Given the description of an element on the screen output the (x, y) to click on. 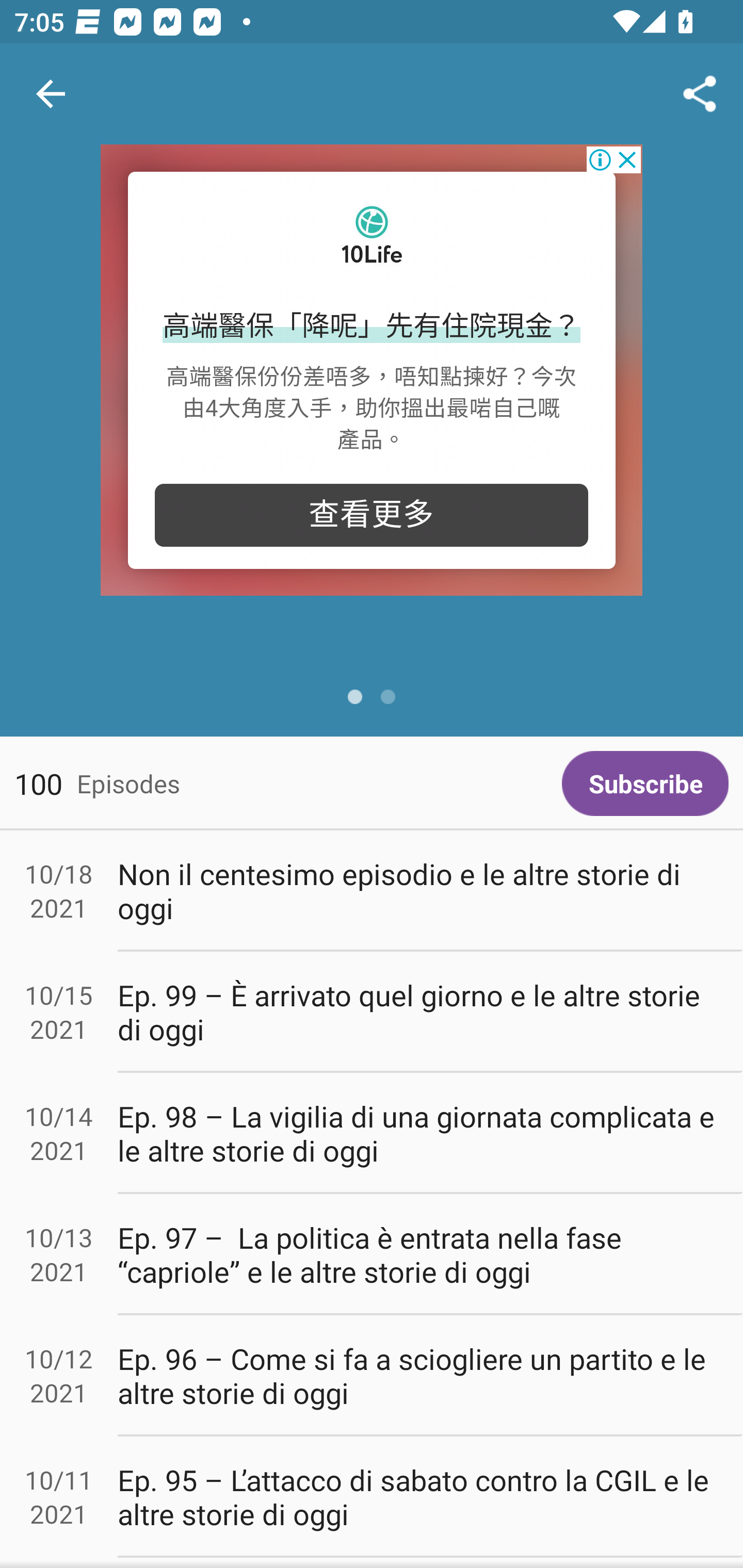
Navigate up (50, 93)
Share... (699, 93)
高端醫保「降呢」先有住院現金？ (371, 327)
查看更多 (371, 514)
Subscribe (644, 783)
